Given the description of an element on the screen output the (x, y) to click on. 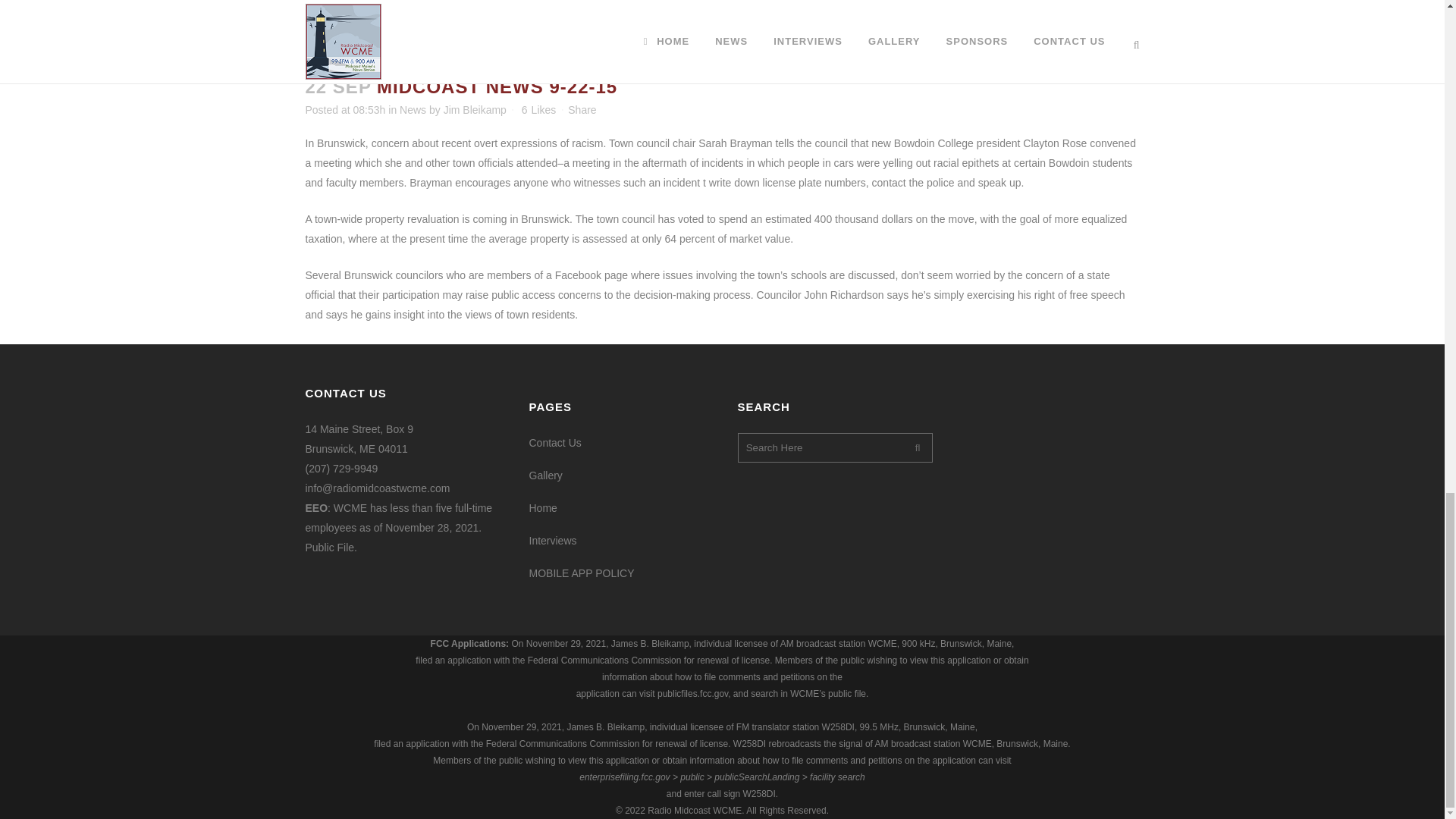
Like this (538, 109)
Share (581, 110)
6 Likes (538, 109)
Jim Bleikamp (475, 110)
News (412, 110)
